Given the description of an element on the screen output the (x, y) to click on. 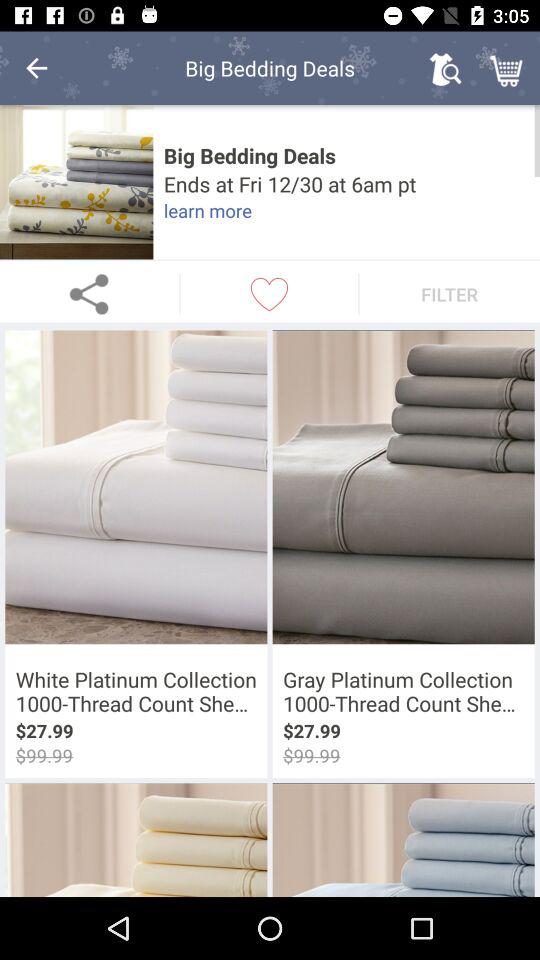
open page (76, 182)
